Given the description of an element on the screen output the (x, y) to click on. 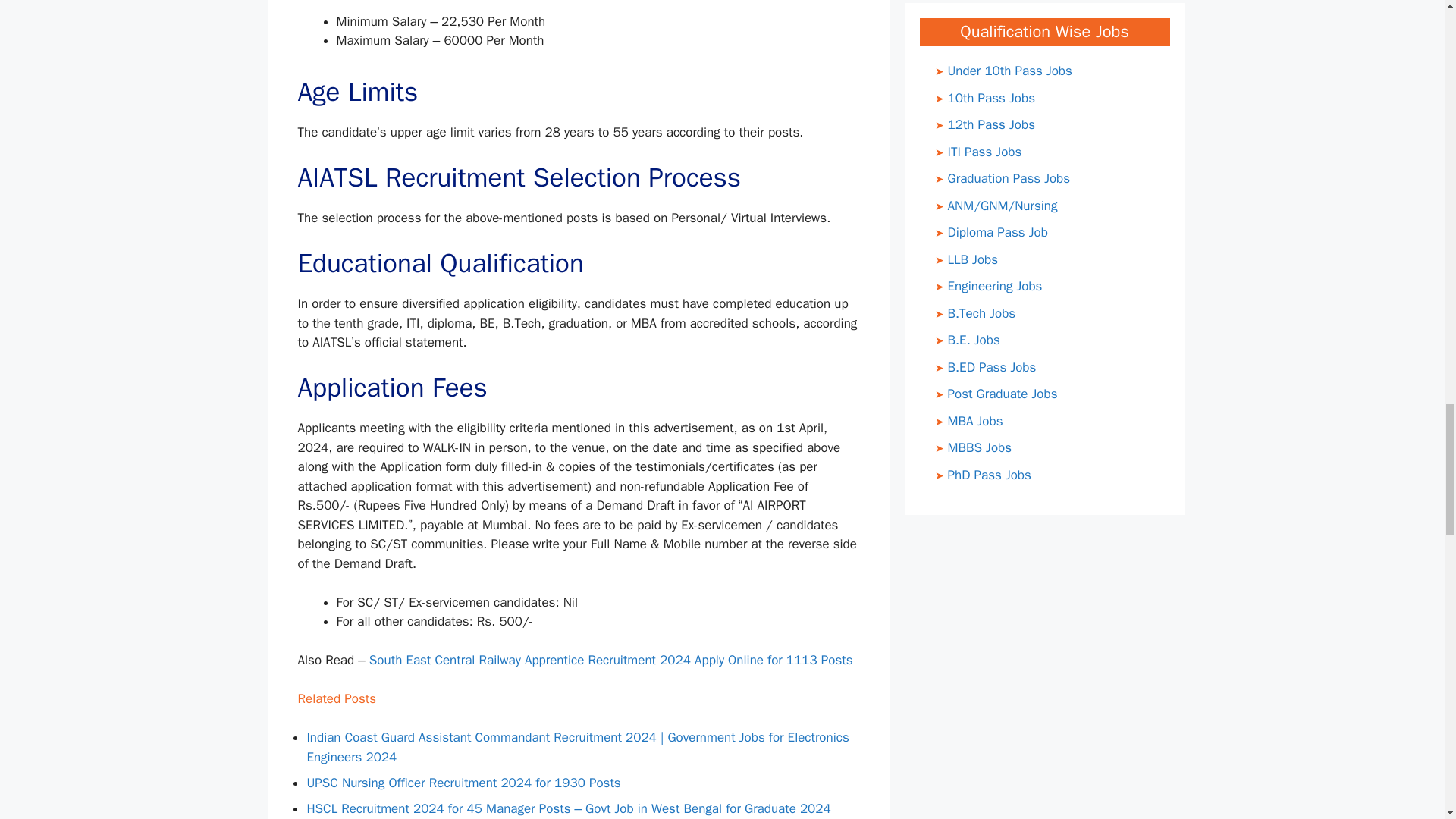
UPSC Nursing Officer Recruitment 2024 for 1930 Posts (462, 782)
